Given the description of an element on the screen output the (x, y) to click on. 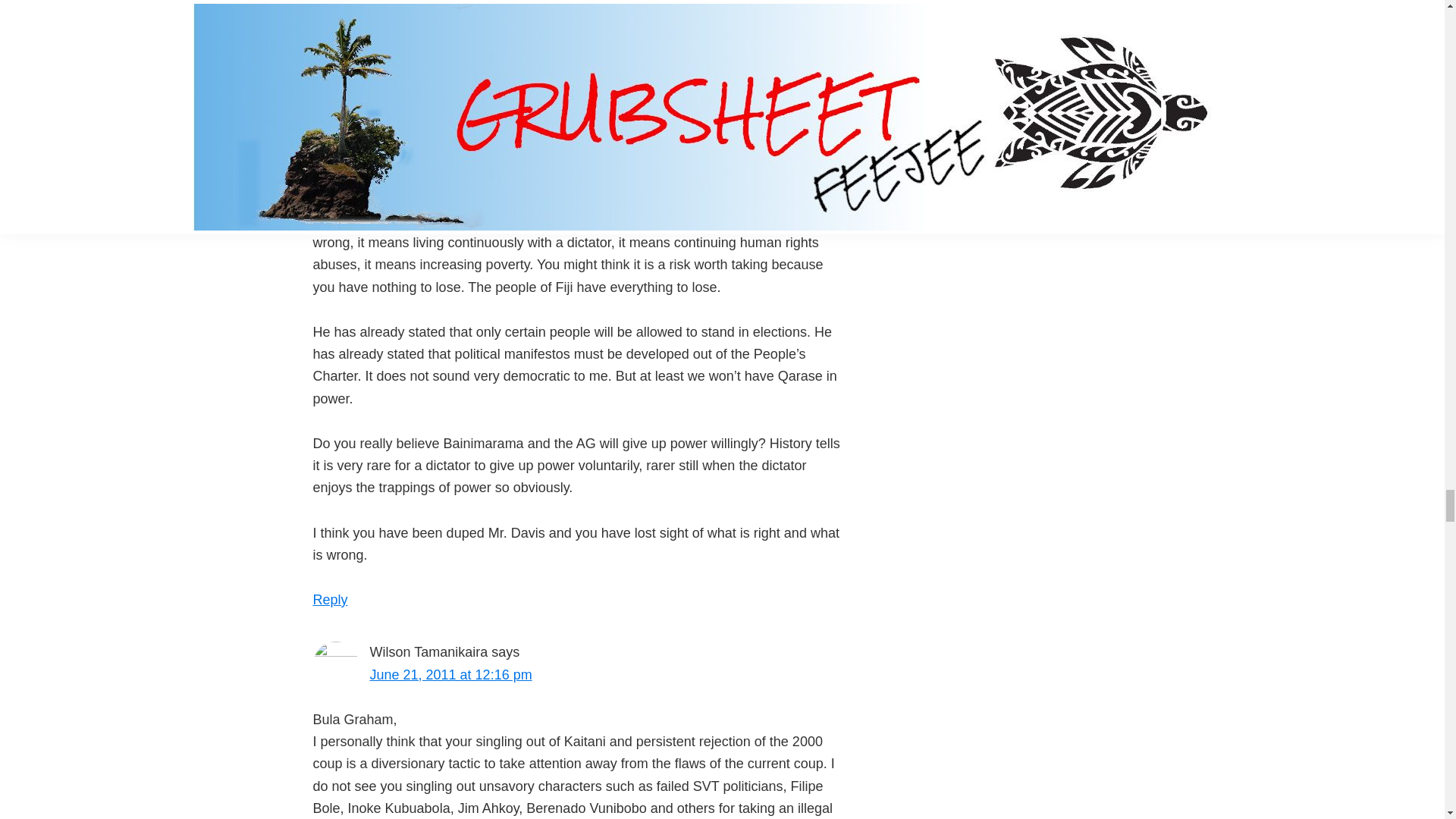
June 21, 2011 at 12:16 pm (450, 674)
Reply (330, 599)
